Given the description of an element on the screen output the (x, y) to click on. 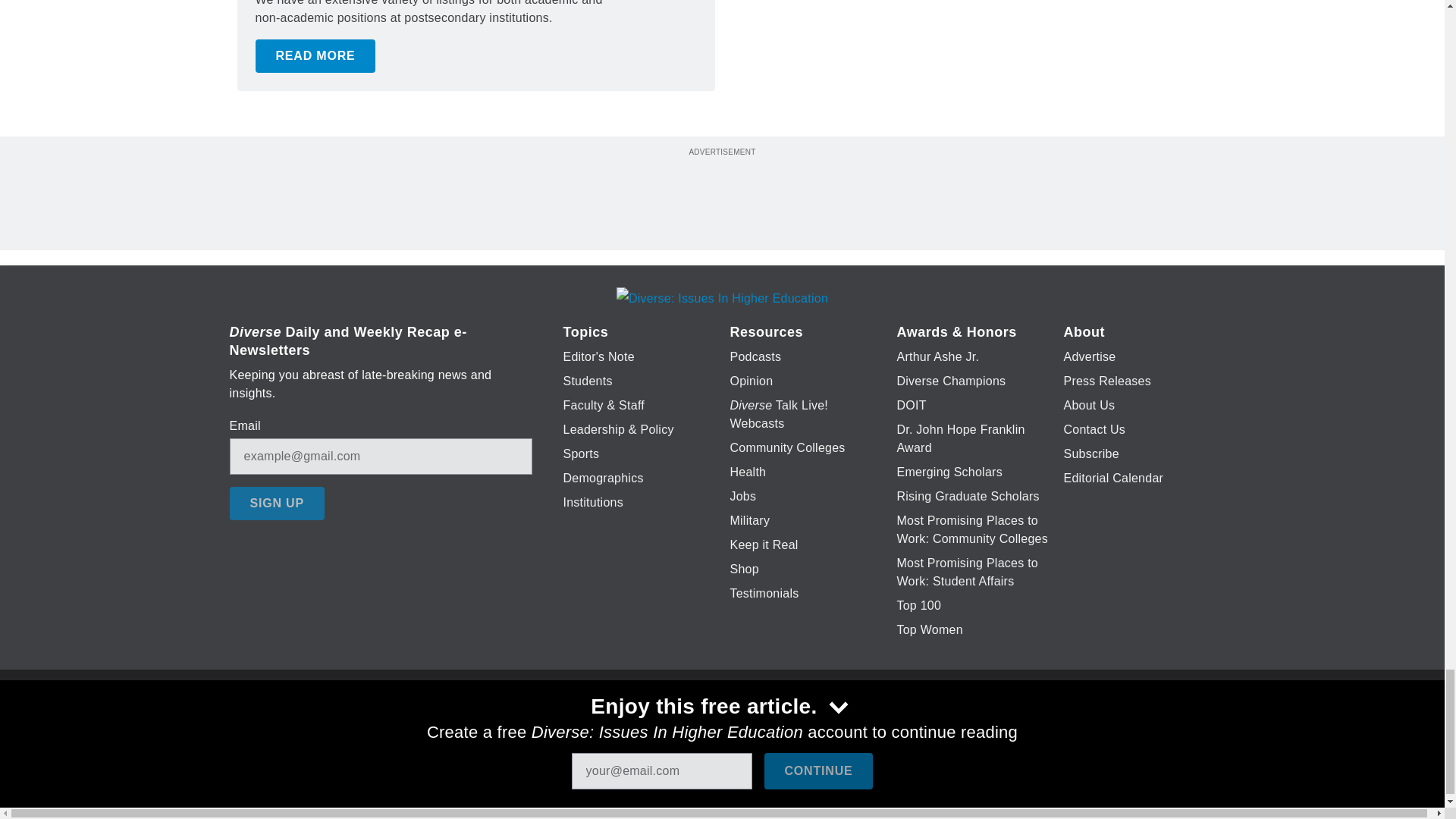
Facebook icon (635, 727)
Twitter X icon (674, 727)
LinkedIn icon (718, 727)
Instagram icon (796, 727)
YouTube icon (757, 727)
